Given the description of an element on the screen output the (x, y) to click on. 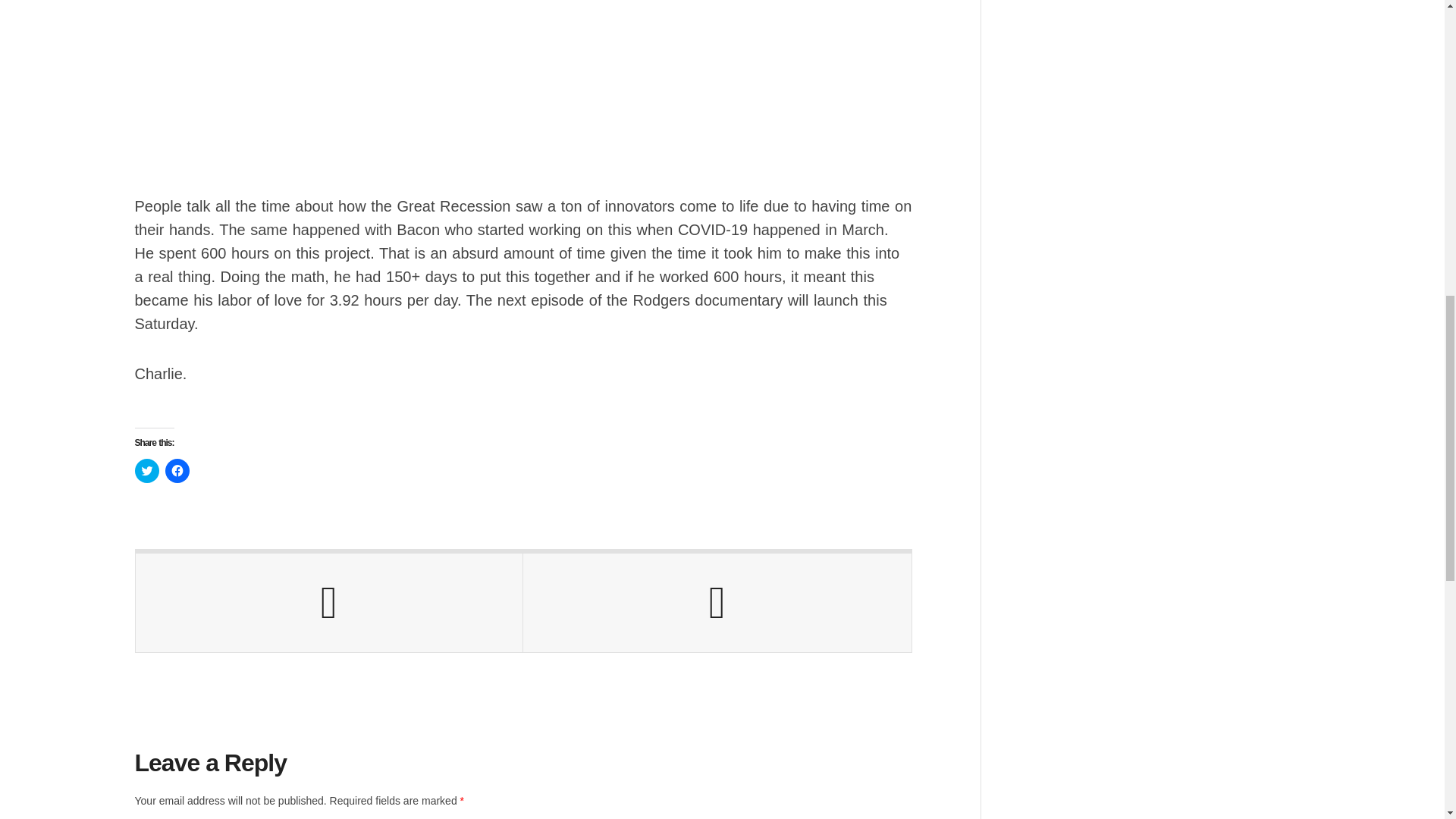
Next Post (716, 602)
Previous Post (328, 602)
Click to share on Twitter (146, 470)
Click to share on Facebook (177, 470)
